Given the description of an element on the screen output the (x, y) to click on. 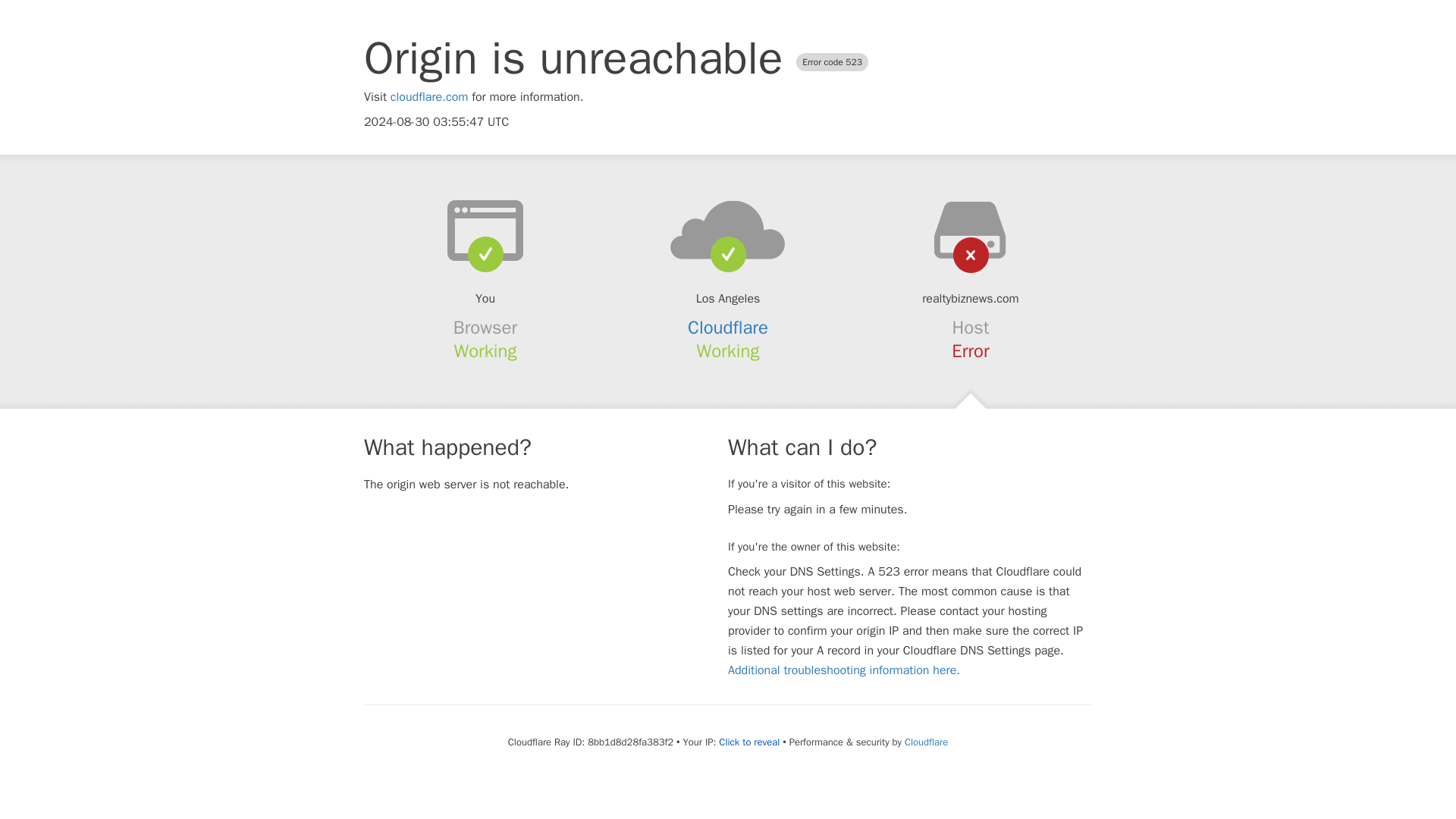
Click to reveal (748, 742)
Cloudflare (727, 327)
cloudflare.com (429, 96)
Cloudflare (925, 741)
Additional troubleshooting information here. (843, 670)
